Given the description of an element on the screen output the (x, y) to click on. 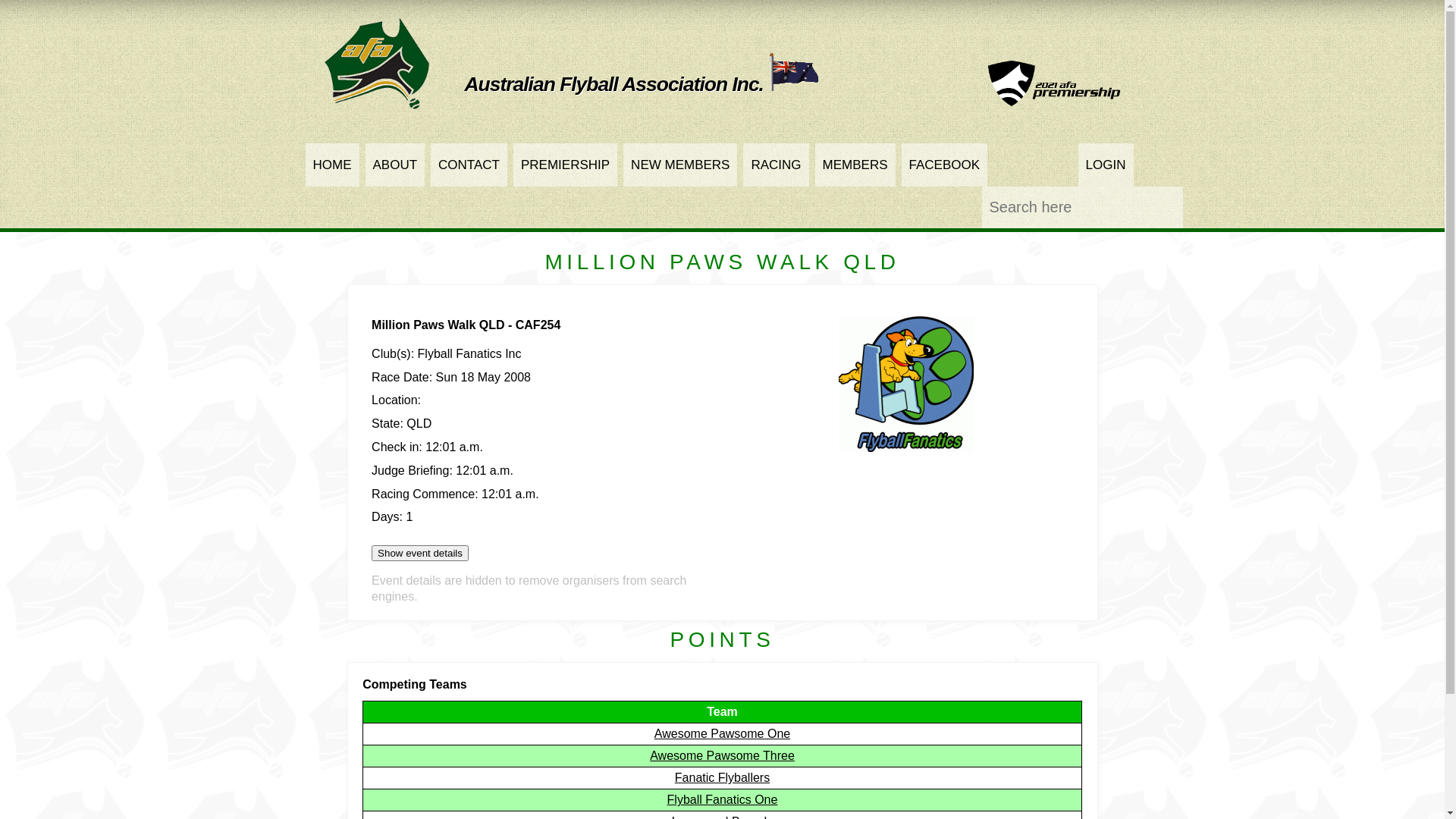
CONTACT Element type: text (468, 164)
Show event details Element type: text (419, 553)
FACEBOOK Element type: text (944, 164)
PREMIERSHIP Element type: text (565, 164)
ABOUT Element type: text (395, 164)
LOGIN Element type: text (1105, 164)
Australian Flyball Association Inc. Element type: text (641, 83)
NEW MEMBERS Element type: text (680, 164)
MEMBERS Element type: text (855, 164)
Fanatic Flyballers Element type: text (721, 777)
Awesome Pawsome One Element type: text (722, 733)
Awesome Pawsome Three Element type: text (721, 755)
Flyball Fanatics One Element type: text (722, 799)
HOME Element type: text (331, 164)
RACING Element type: text (775, 164)
